Given the description of an element on the screen output the (x, y) to click on. 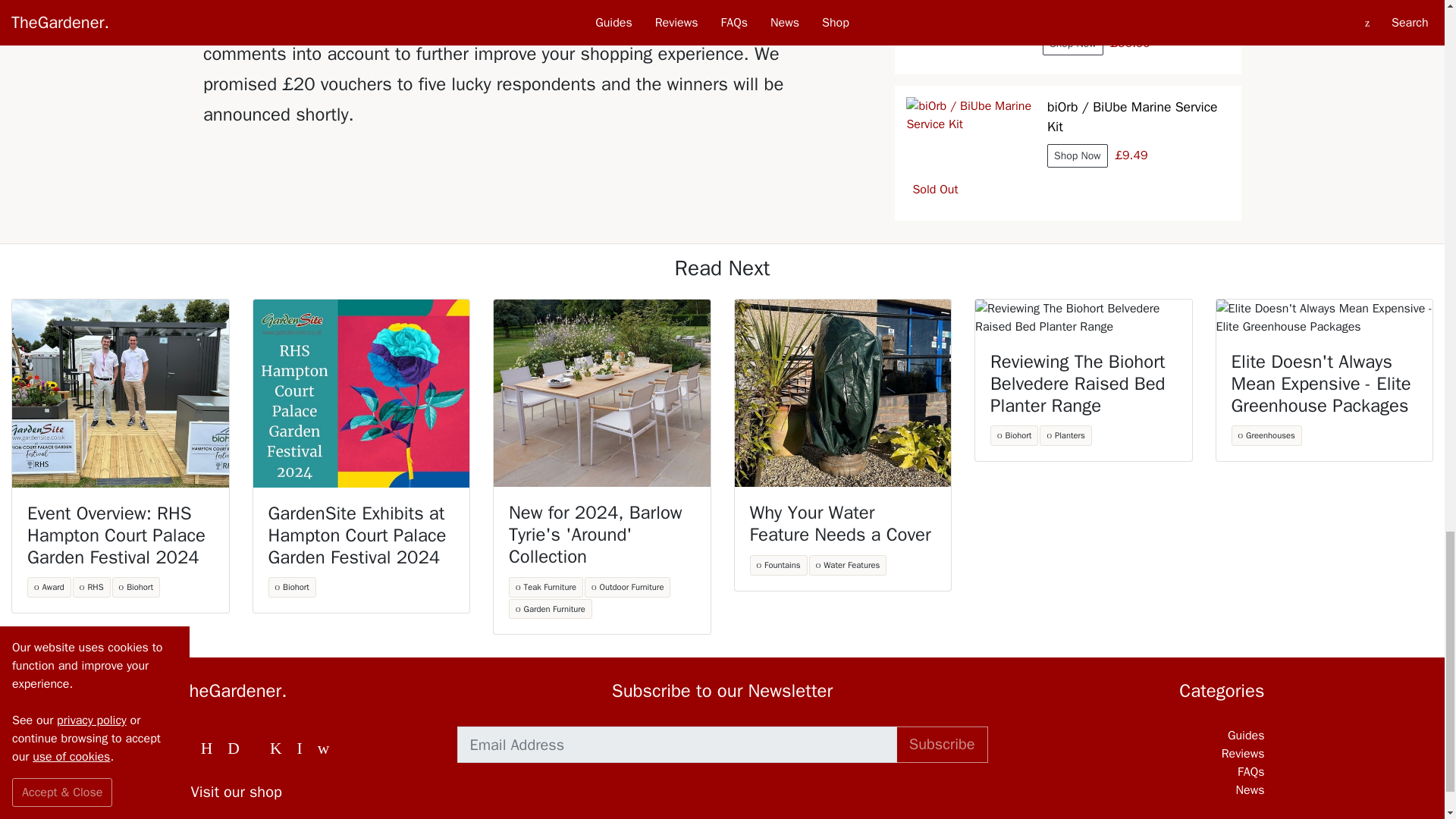
Visit our shop (306, 792)
Based on 2 reviews (1136, 16)
Subscribe (942, 744)
TheGardener. (306, 690)
